Given the description of an element on the screen output the (x, y) to click on. 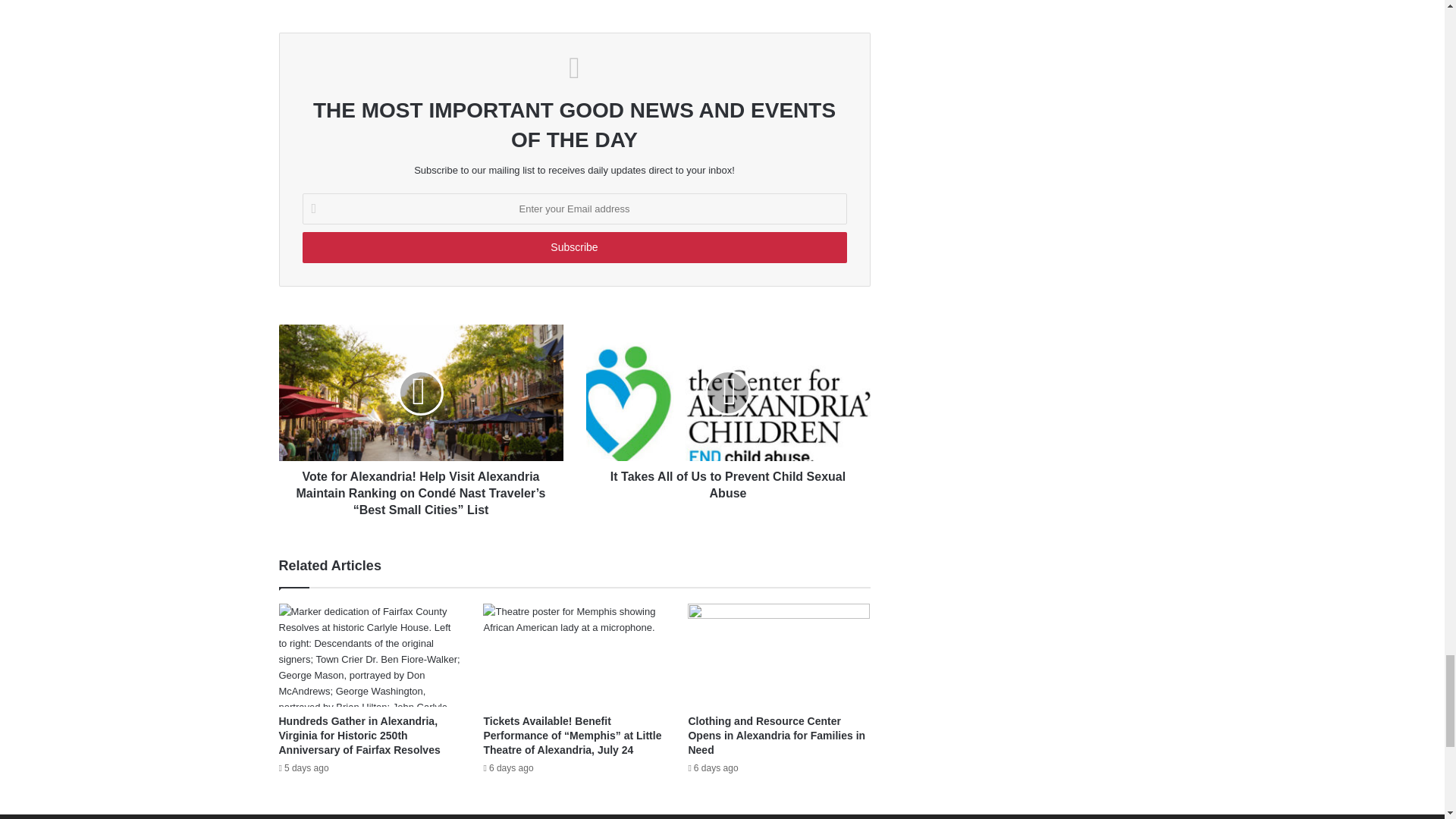
Subscribe (573, 246)
